Given the description of an element on the screen output the (x, y) to click on. 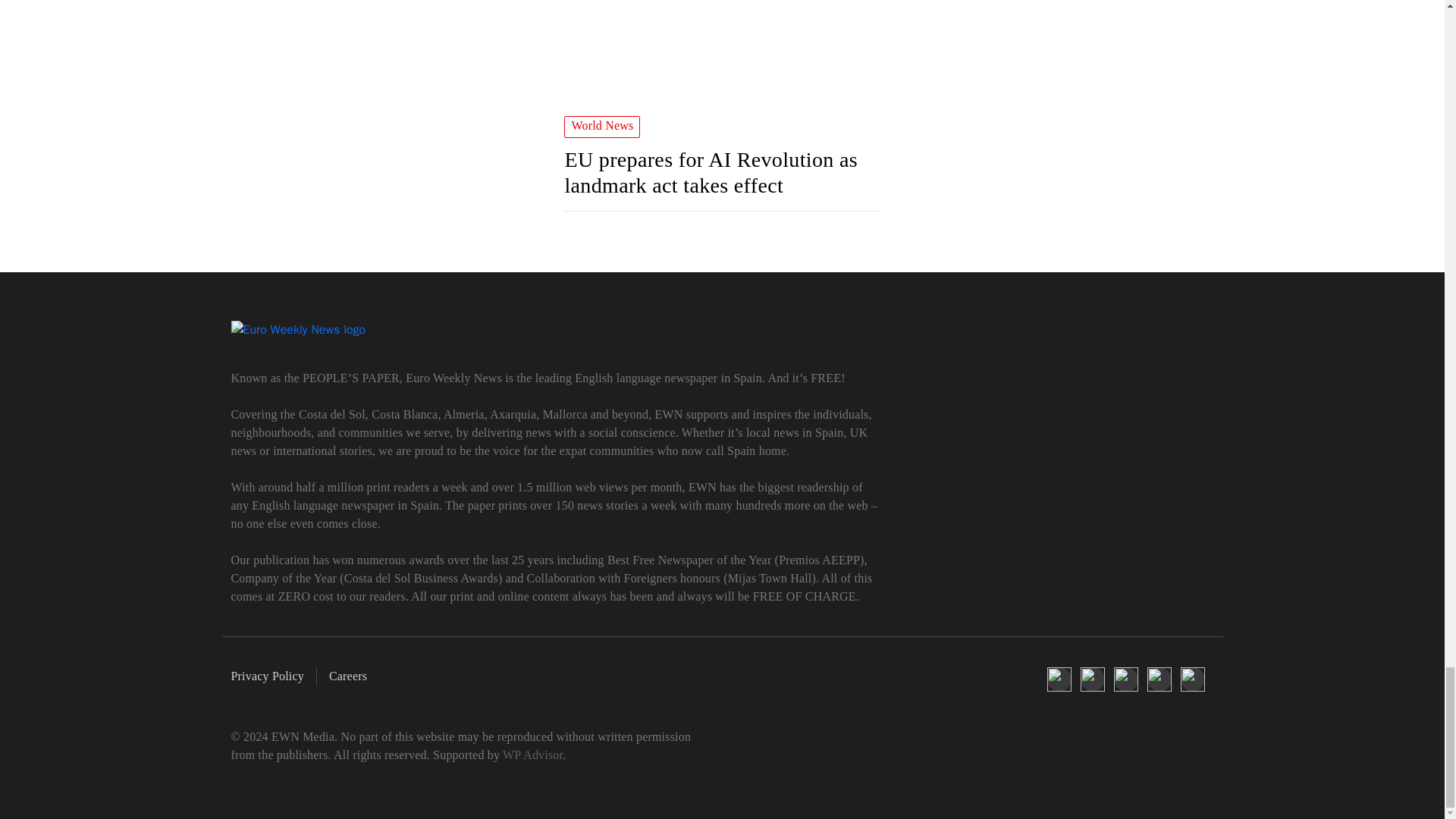
WP Advisor - WordPress done right! (532, 754)
